Given the description of an element on the screen output the (x, y) to click on. 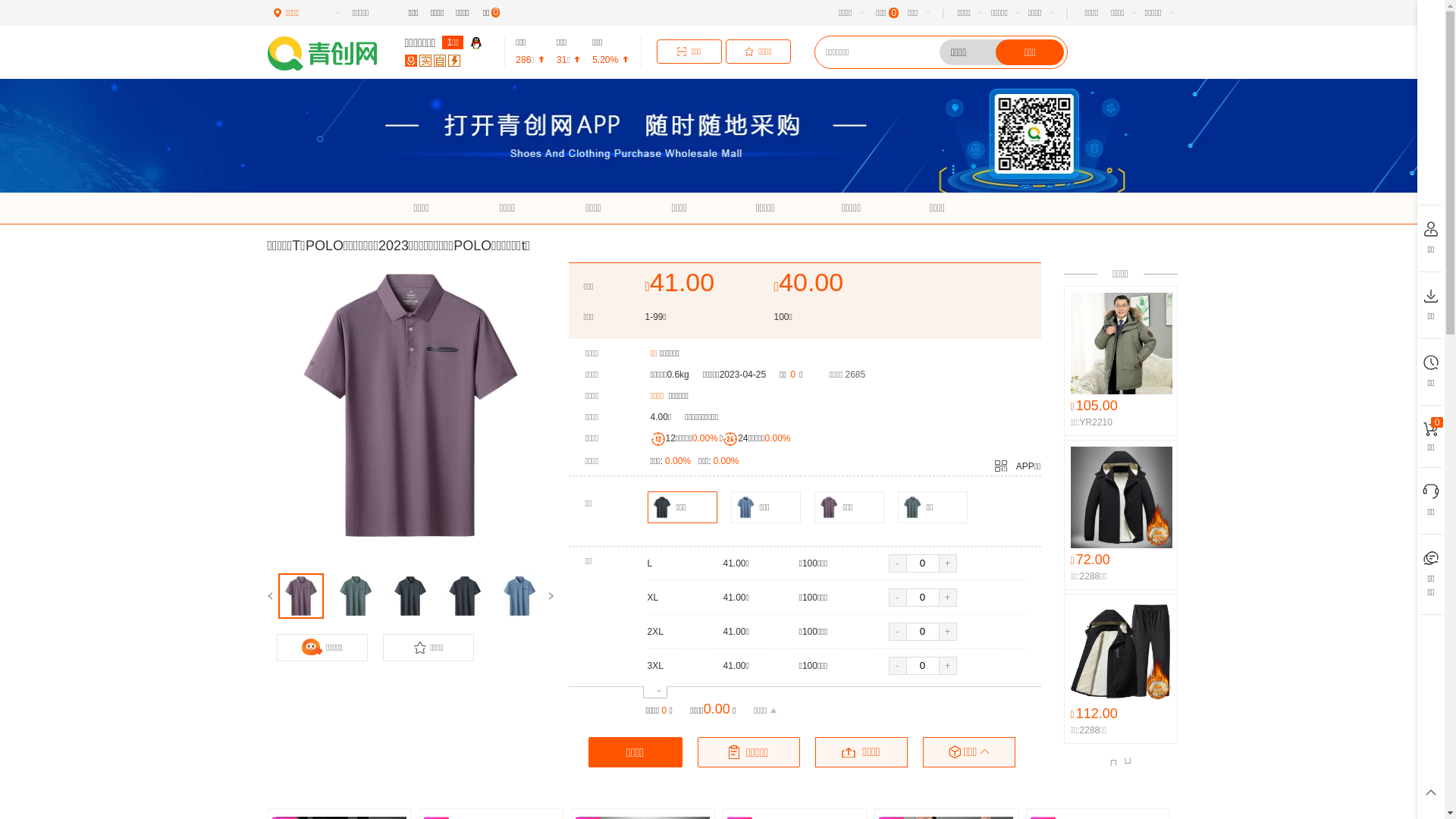
17qcc.com Element type: text (328, 55)
